Given the description of an element on the screen output the (x, y) to click on. 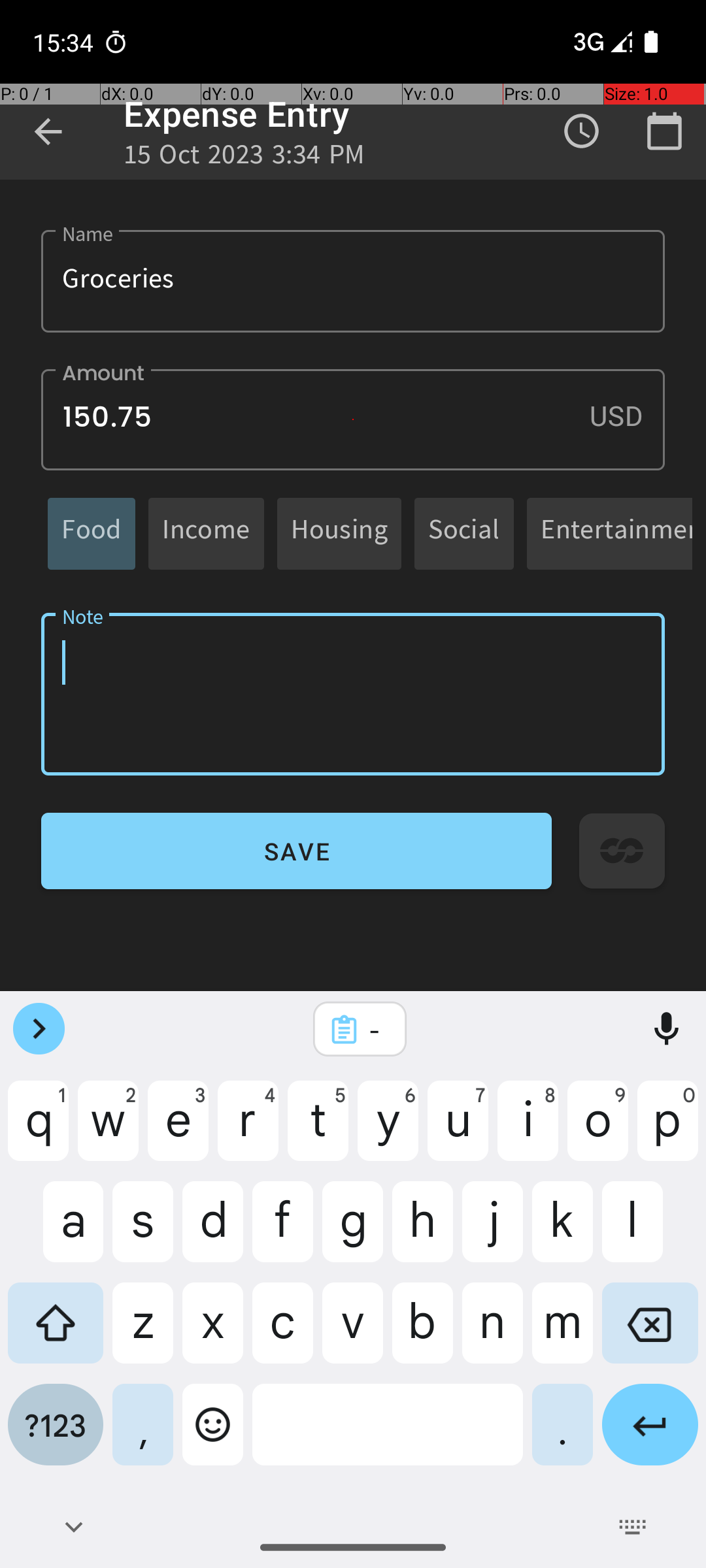
150.75 Element type: android.widget.EditText (352, 419)
